Given the description of an element on the screen output the (x, y) to click on. 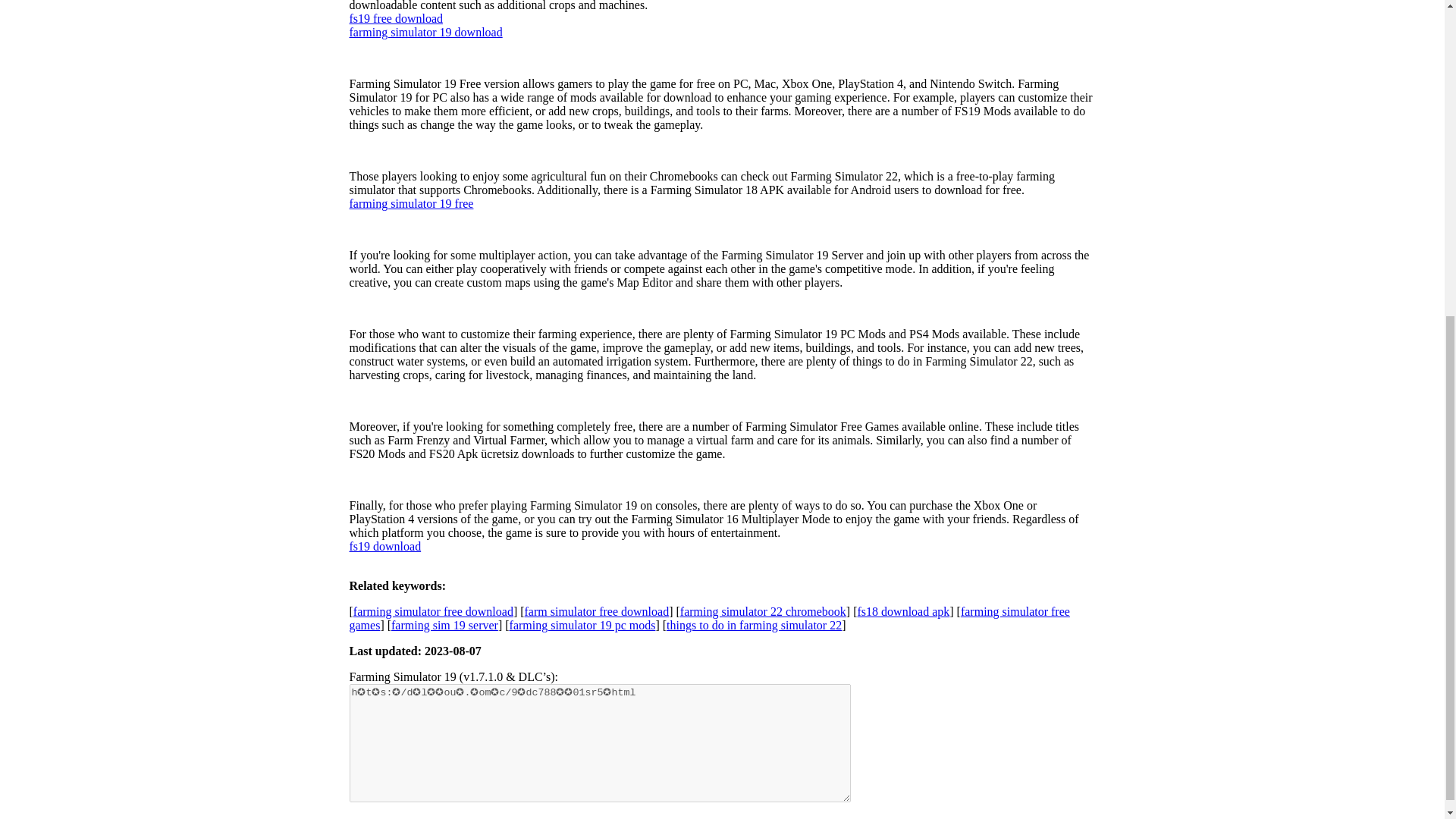
fs18 download apk (903, 610)
farming simulator free games (708, 617)
fs19 download (384, 545)
farm simulator free download (596, 610)
farming simulator 22 chromebook (762, 610)
farming simulator 19 pc mods (582, 624)
farming simulator 19 free (411, 202)
things to do in farming simulator 22 (753, 624)
farming simulator 19 download (425, 31)
farming sim 19 server (444, 624)
fs19 free download (395, 17)
farming simulator free download (433, 610)
